Given the description of an element on the screen output the (x, y) to click on. 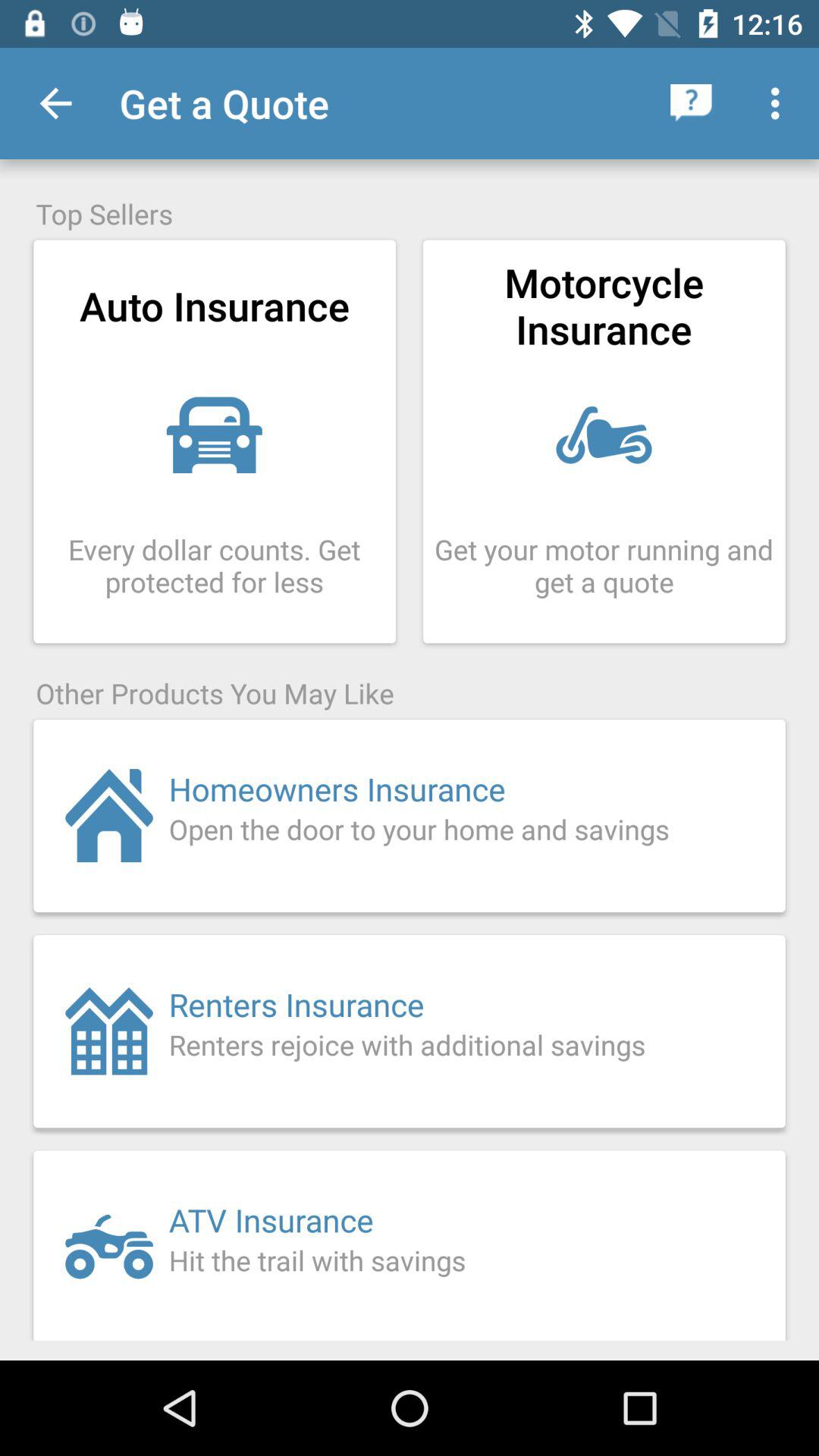
press the icon next to get a quote item (55, 103)
